Given the description of an element on the screen output the (x, y) to click on. 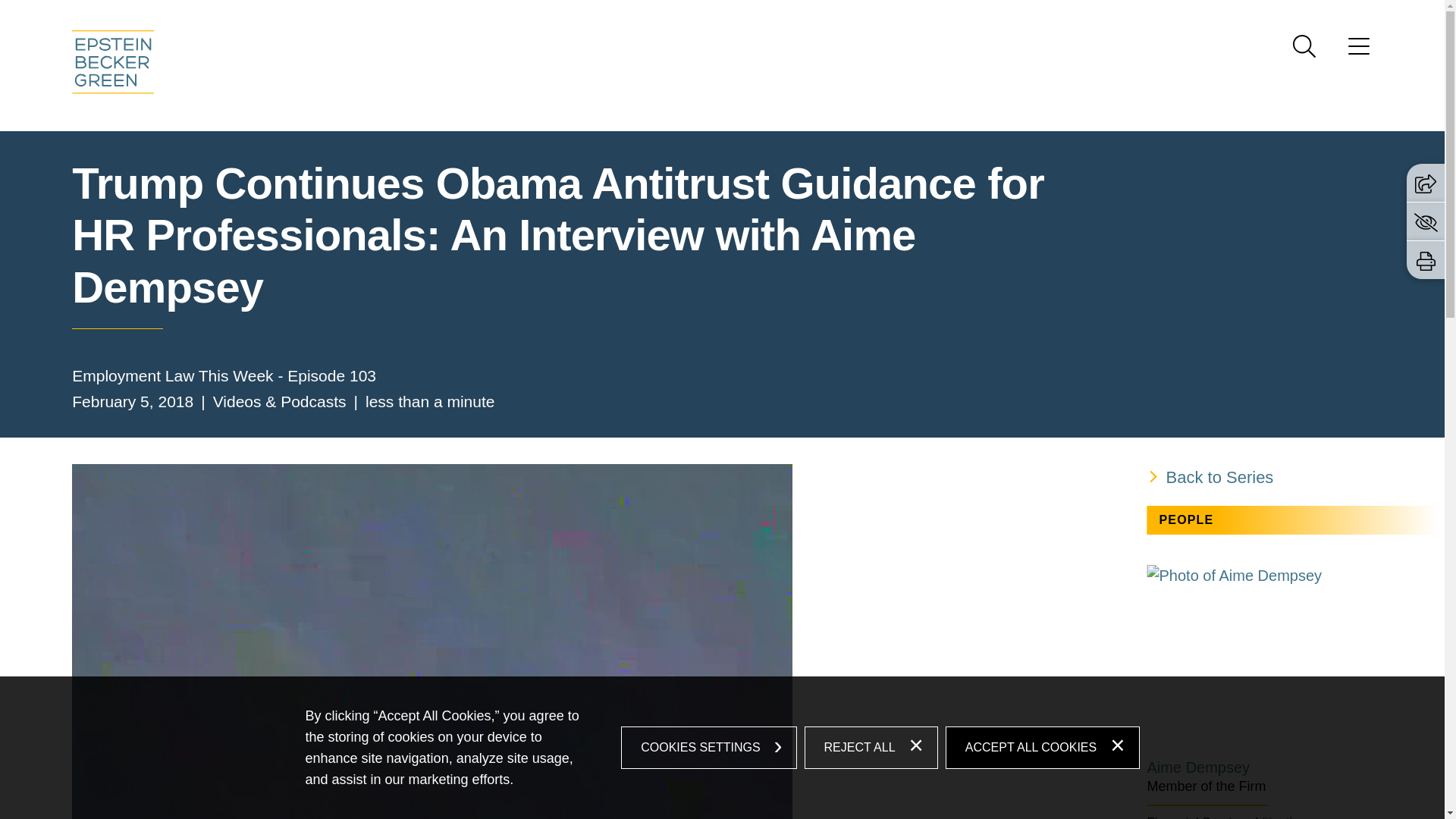
Menu (1359, 51)
Main Content (666, 15)
Main Menu (673, 15)
Search (1304, 46)
Menu (673, 15)
Share (1425, 182)
Go to the privacy settings (1425, 221)
Print (1425, 261)
Share (1425, 183)
